Given the description of an element on the screen output the (x, y) to click on. 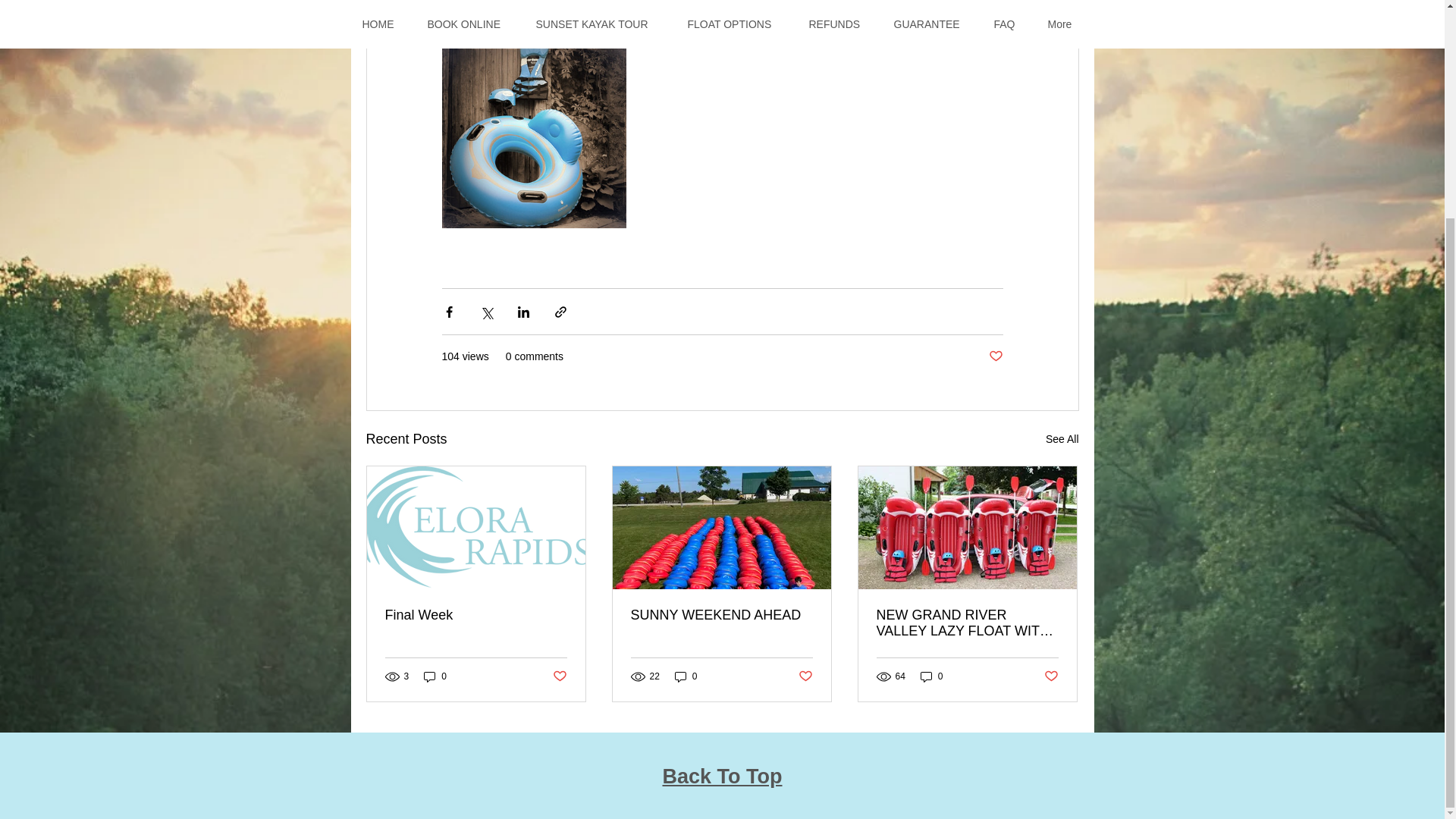
Book Online (558, 31)
NEW GRAND RIVER VALLEY LAZY FLOAT WITH SHUTTLE (967, 623)
0 (685, 676)
See All (1061, 439)
Post not marked as liked (995, 356)
0 (435, 676)
0 (931, 676)
Post not marked as liked (1050, 675)
SUNNY WEEKEND AHEAD (721, 615)
Post not marked as liked (804, 675)
